Given the description of an element on the screen output the (x, y) to click on. 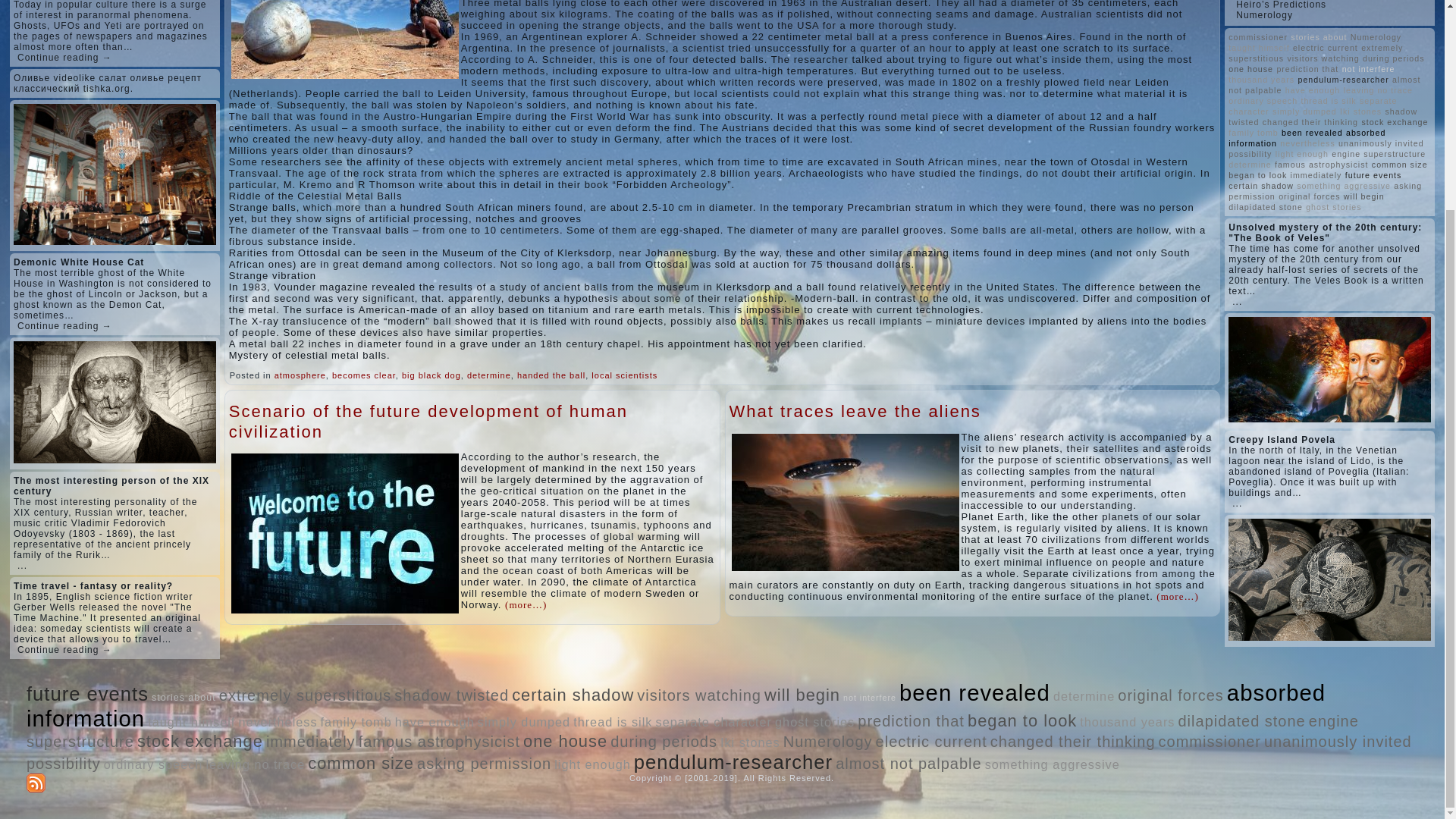
... (22, 565)
What traces leave the aliens (855, 411)
big black dog (431, 375)
becomes clear (363, 375)
Scenario of the future development of human civilization (427, 421)
handed the ball (550, 375)
tishka.org (106, 88)
local scientists (624, 375)
determine (489, 375)
atmosphere (300, 375)
